Given the description of an element on the screen output the (x, y) to click on. 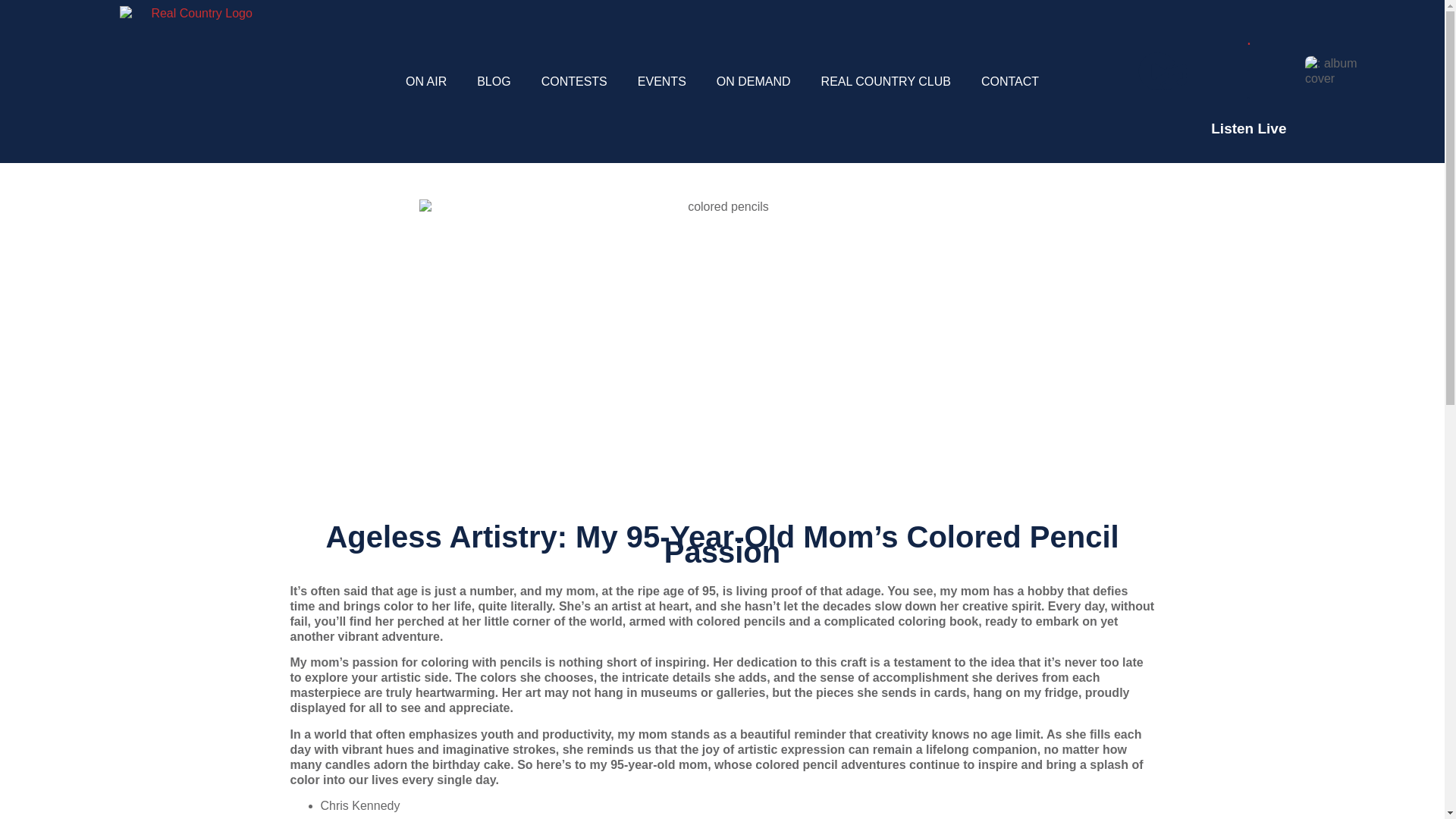
REAL COUNTRY CLUB (886, 81)
Listen Live (1248, 127)
BLOG (493, 81)
EVENTS (662, 81)
CONTACT (1010, 81)
RealCountryLogo (194, 81)
CONTESTS (574, 81)
ON DEMAND (753, 81)
ON AIR (425, 81)
:  album cover (1334, 71)
